Given the description of an element on the screen output the (x, y) to click on. 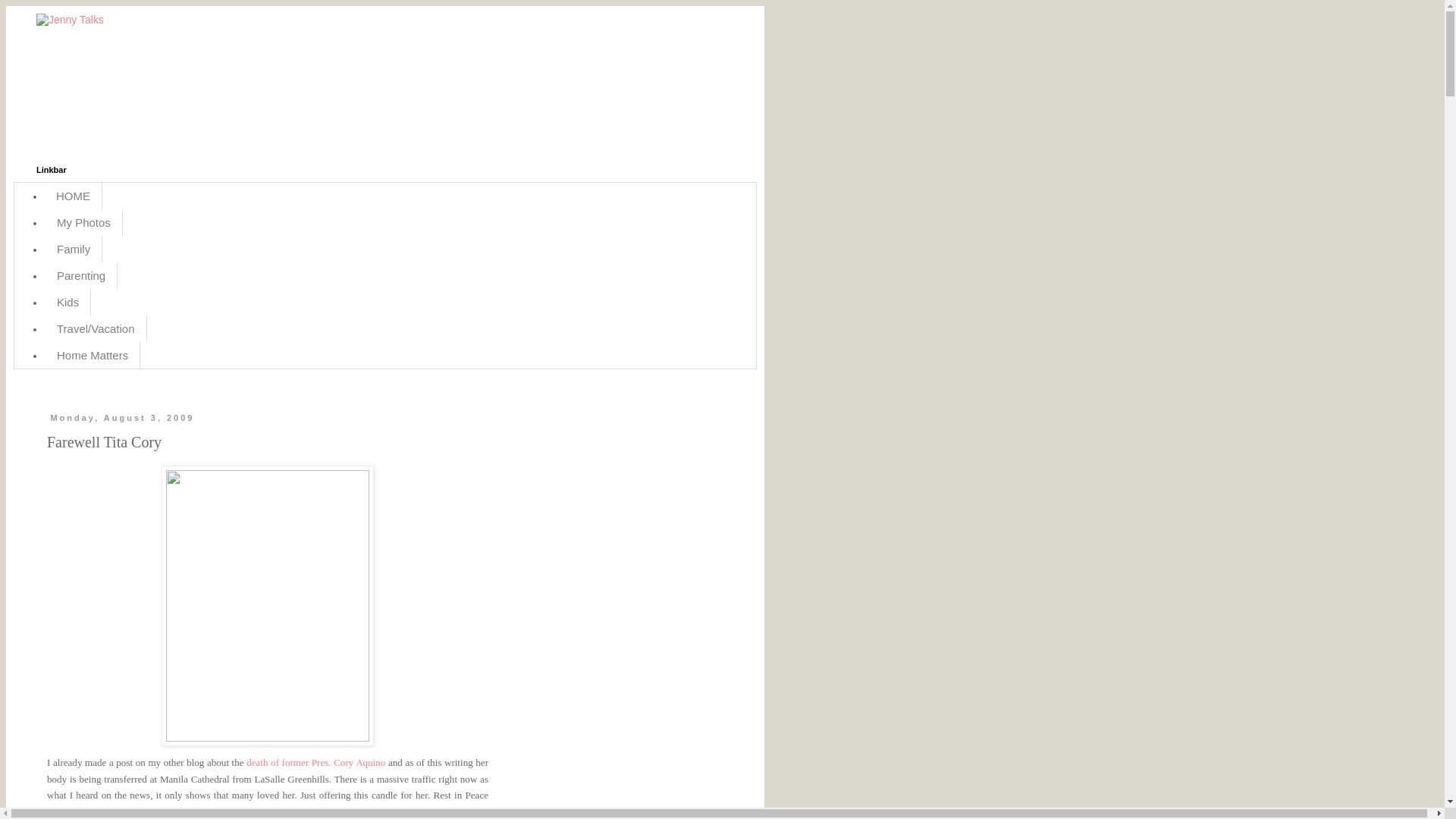
Kids (67, 302)
HOME (73, 195)
Parenting (81, 275)
My Photos (83, 222)
Home Matters (92, 355)
Family (73, 248)
death of former Pres. Cory Aquino (315, 762)
